Given the description of an element on the screen output the (x, y) to click on. 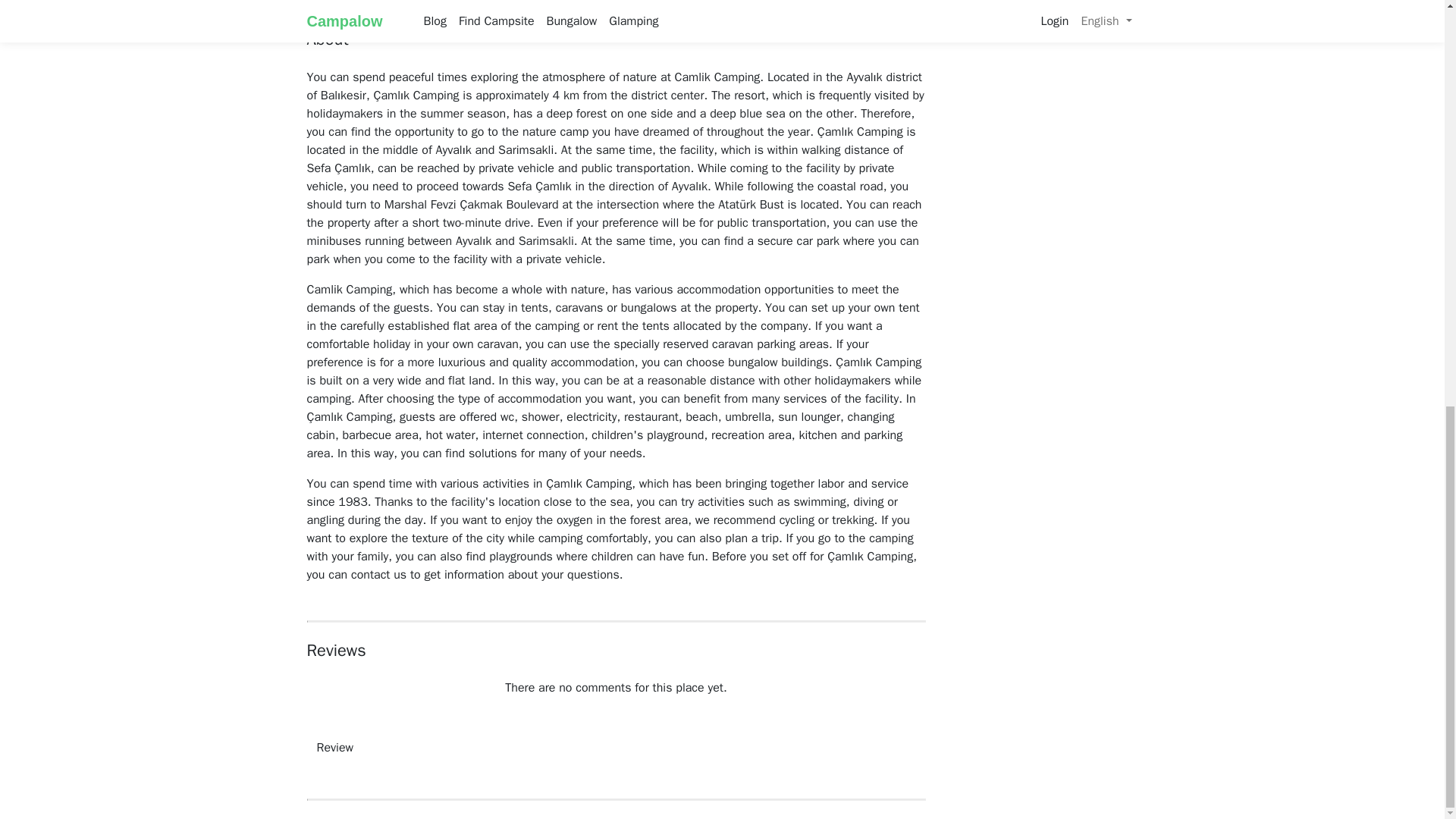
Review (333, 747)
